Given the description of an element on the screen output the (x, y) to click on. 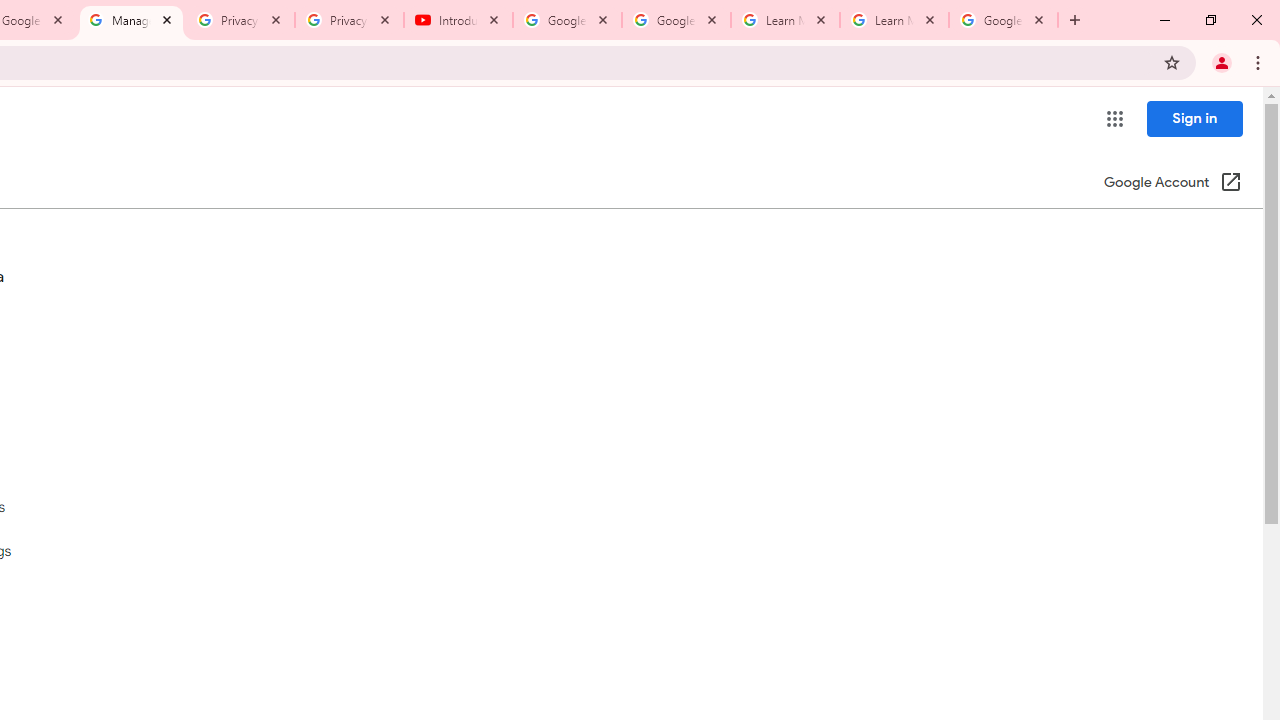
Google Account (Open in a new window) (1172, 183)
Introduction | Google Privacy Policy - YouTube (458, 20)
Google Account (1003, 20)
